Given the description of an element on the screen output the (x, y) to click on. 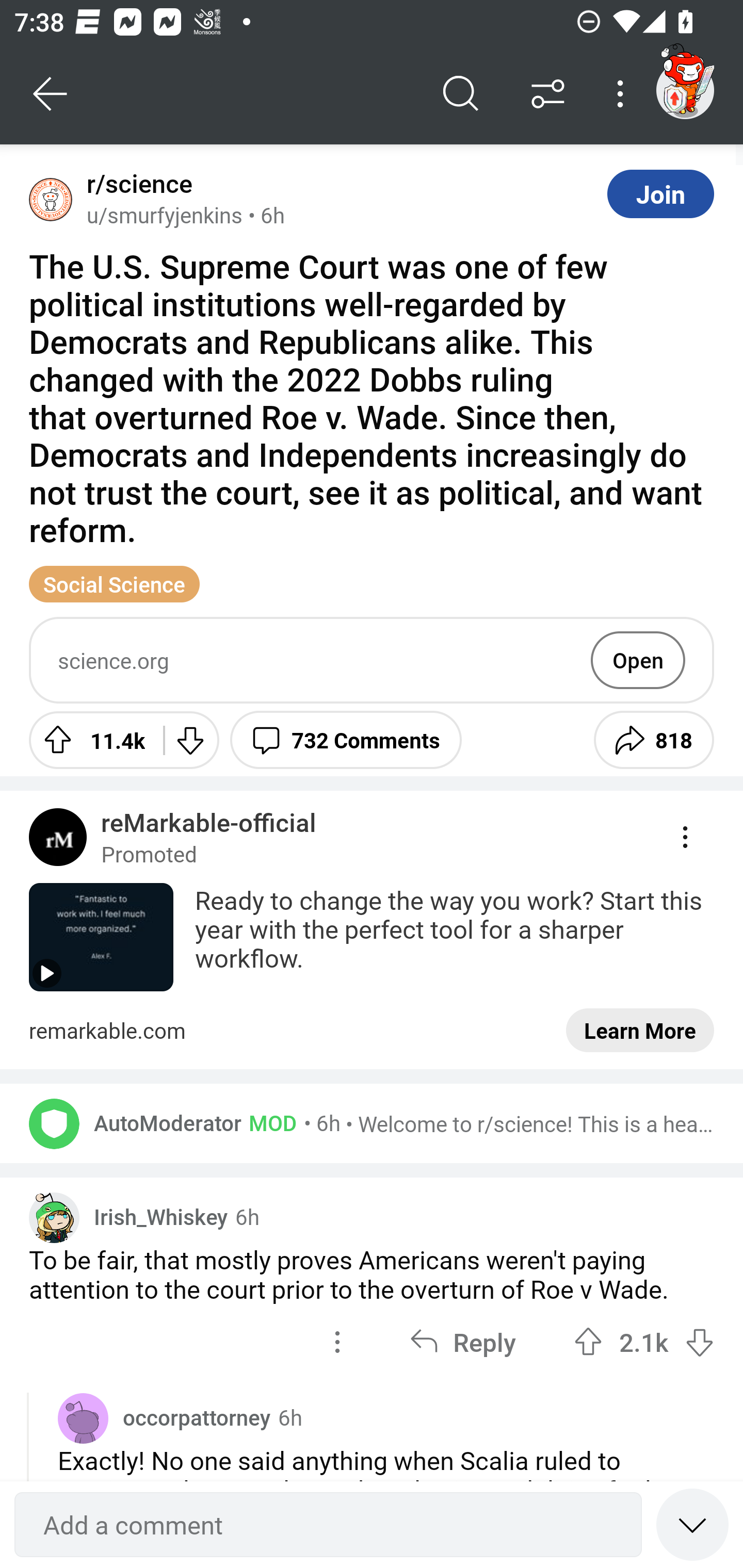
Back (50, 93)
TestAppium002 account (685, 90)
Search comments (460, 93)
Sort comments (547, 93)
More options (623, 93)
r/science (135, 183)
Join (660, 193)
Avatar (50, 199)
Social Science (113, 584)
science.org Open (371, 660)
Open (637, 659)
Upvote 11.4k (88, 740)
Downvote (189, 740)
732 Comments (346, 740)
Share 818 (653, 740)
Avatar (53, 1124)
MOD (268, 1122)
Custom avatar (53, 1217)
options (337, 1342)
Reply (462, 1342)
Upvote 2.1k 2096 votes Downvote (643, 1342)
Avatar (82, 1417)
Speed read (692, 1524)
Add a comment (327, 1524)
